Given the description of an element on the screen output the (x, y) to click on. 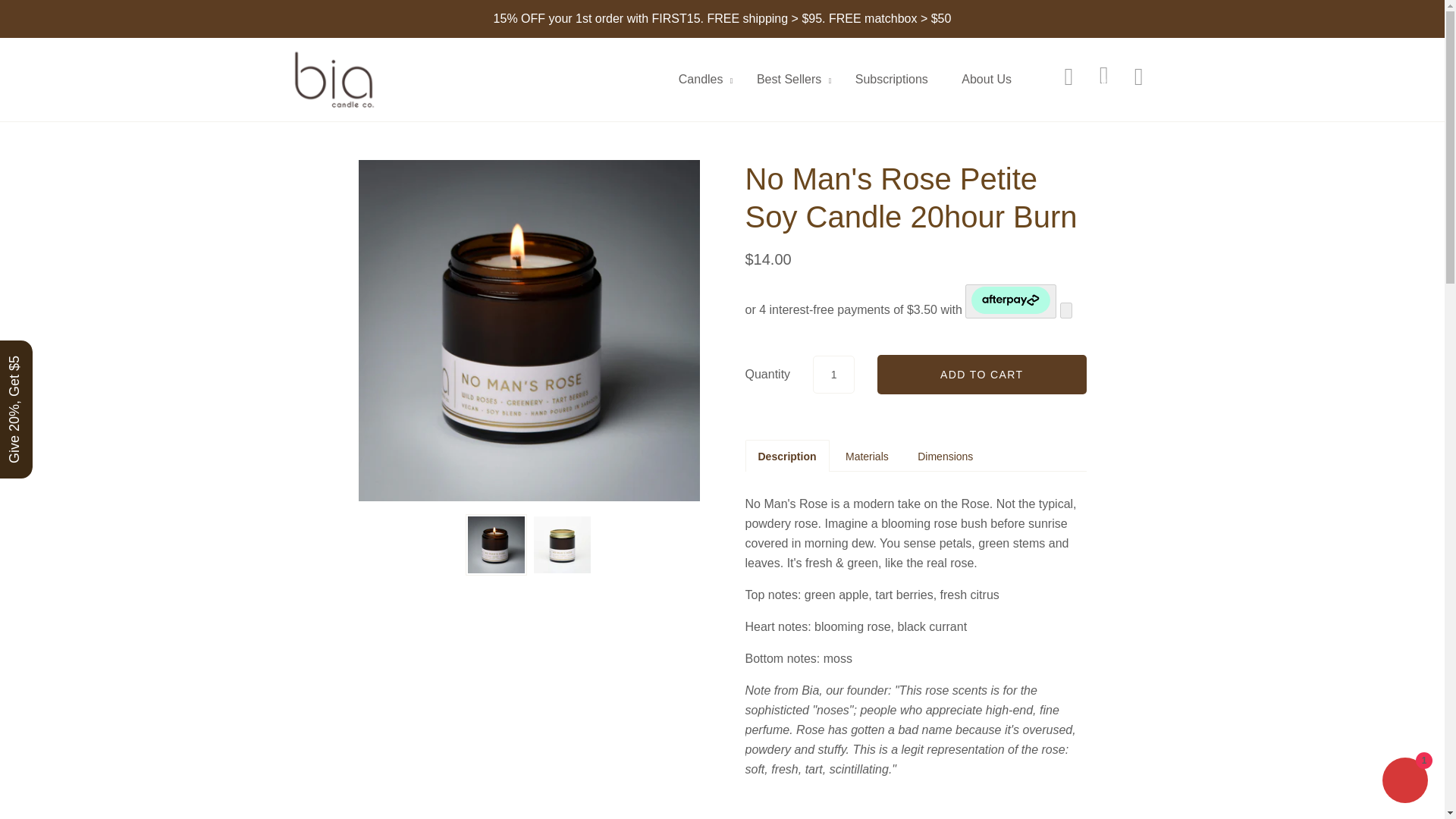
About Us (986, 79)
Shopify online store chat (1404, 781)
Subscriptions (891, 79)
Best Sellers (788, 79)
Add to cart (981, 373)
Candles (700, 79)
1 (833, 373)
